Given the description of an element on the screen output the (x, y) to click on. 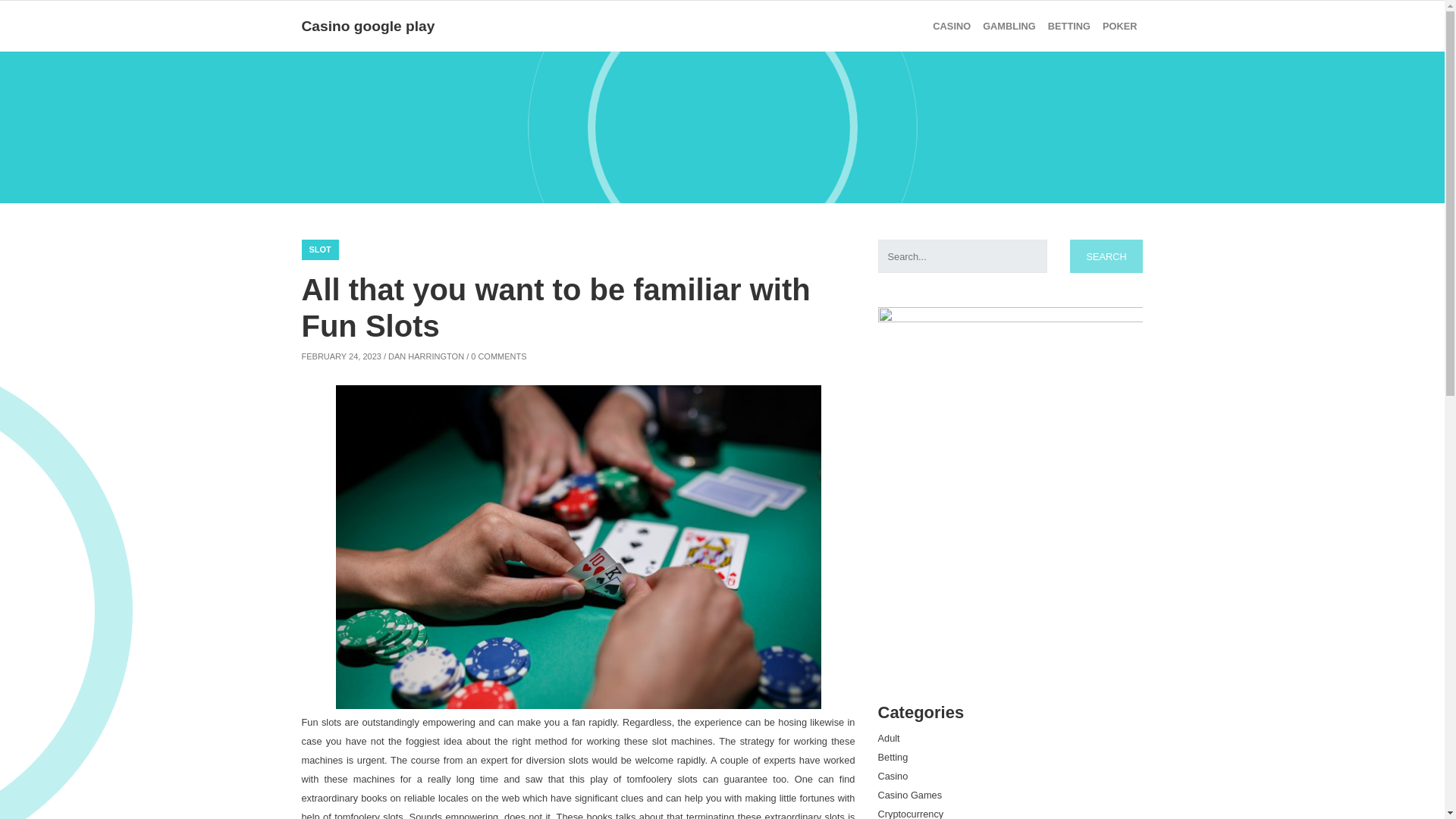
Betting (892, 756)
DAN HARRINGTON (426, 356)
BETTING (1069, 26)
Casino (892, 776)
Casino google play (368, 25)
Gambling (1009, 26)
Casino (951, 26)
Cryptocurrency (910, 813)
POKER (1119, 26)
Adult (888, 737)
